Given the description of an element on the screen output the (x, y) to click on. 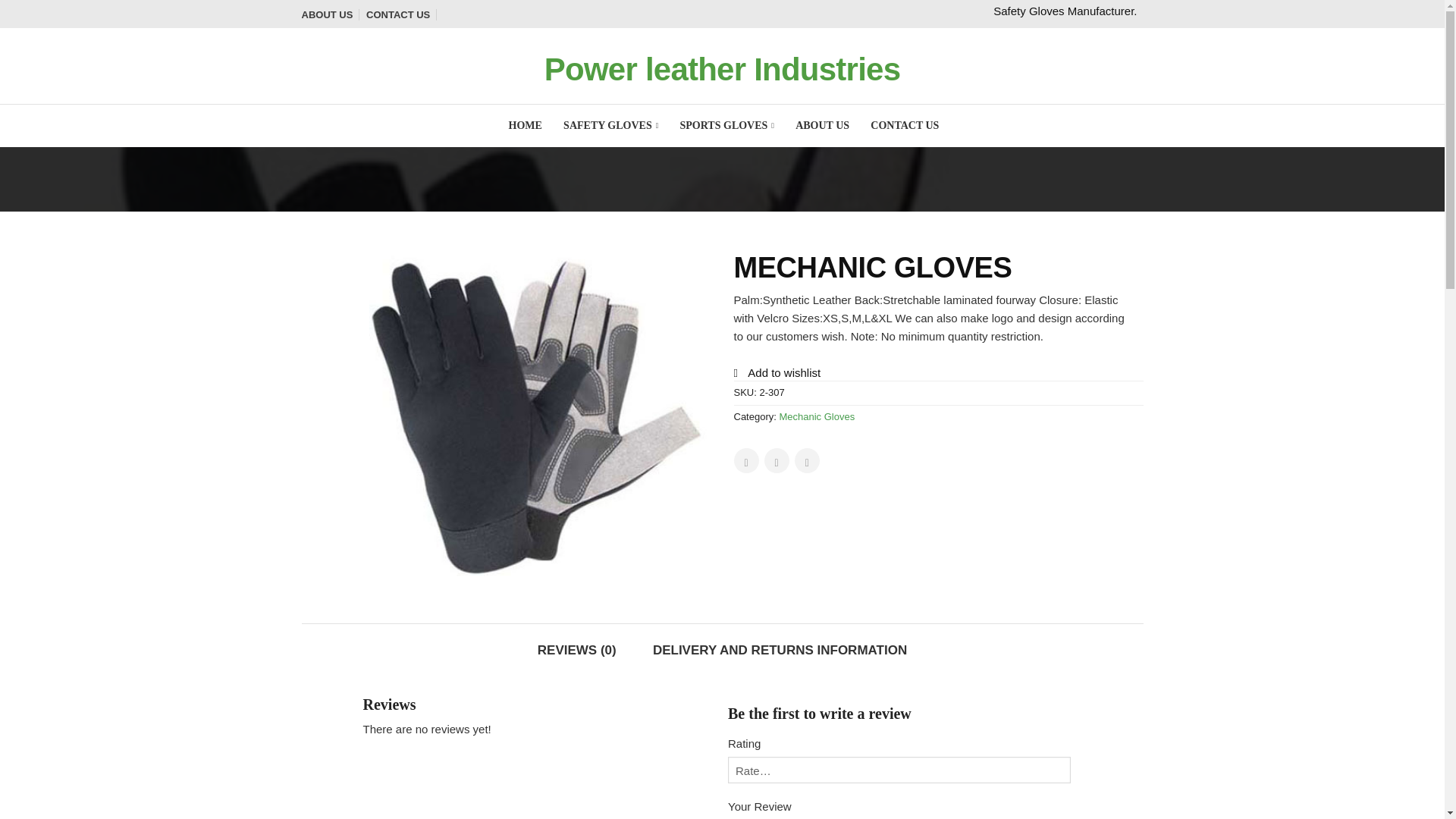
ABOUT US (821, 125)
CONTACT US (401, 14)
SAFETY GLOVES (610, 125)
ABOUT US (330, 14)
CONTACT US (904, 125)
SPORTS GLOVES (726, 125)
Power leather Industries (721, 68)
